Given the description of an element on the screen output the (x, y) to click on. 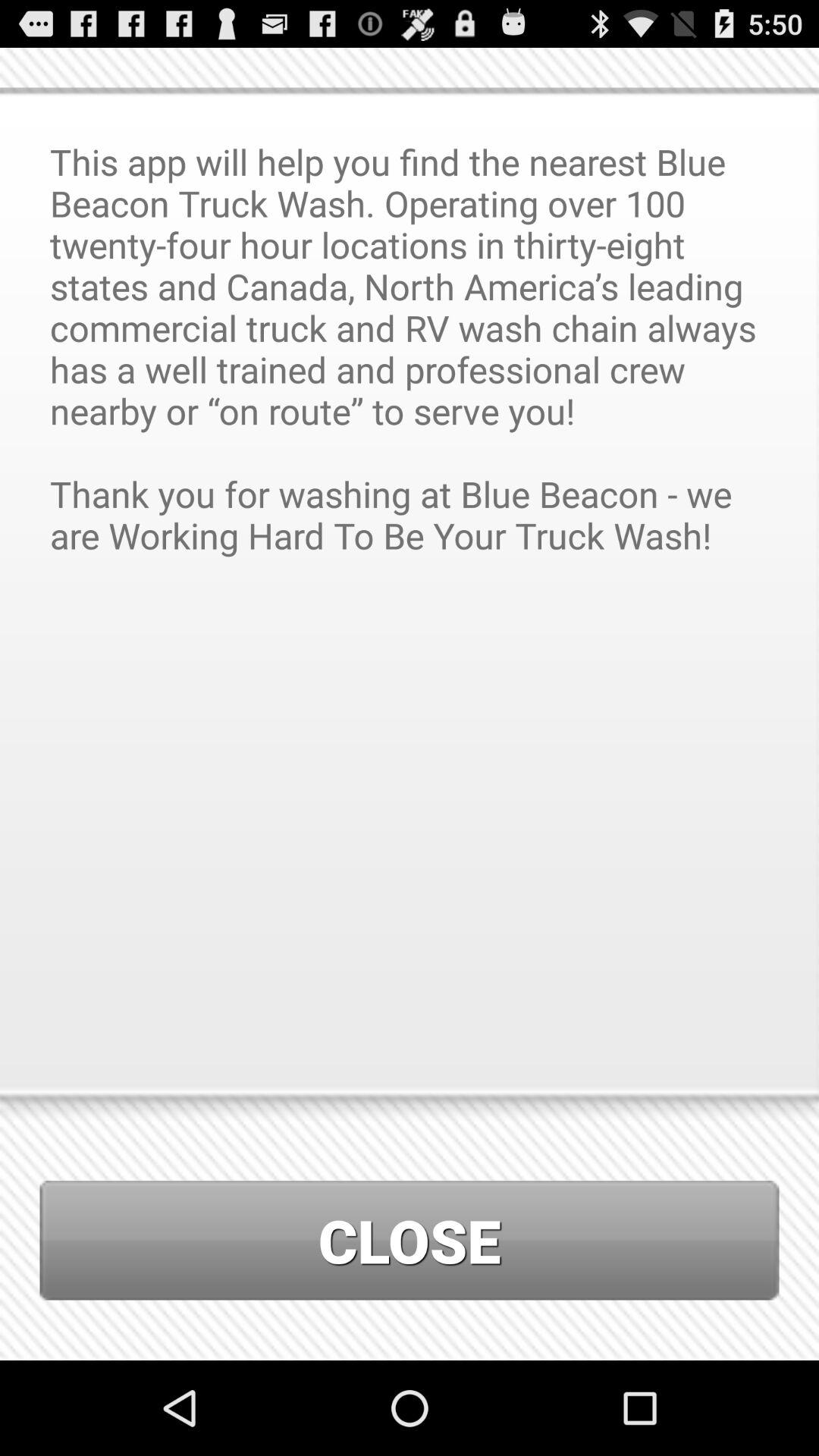
scroll until the close icon (409, 1240)
